Given the description of an element on the screen output the (x, y) to click on. 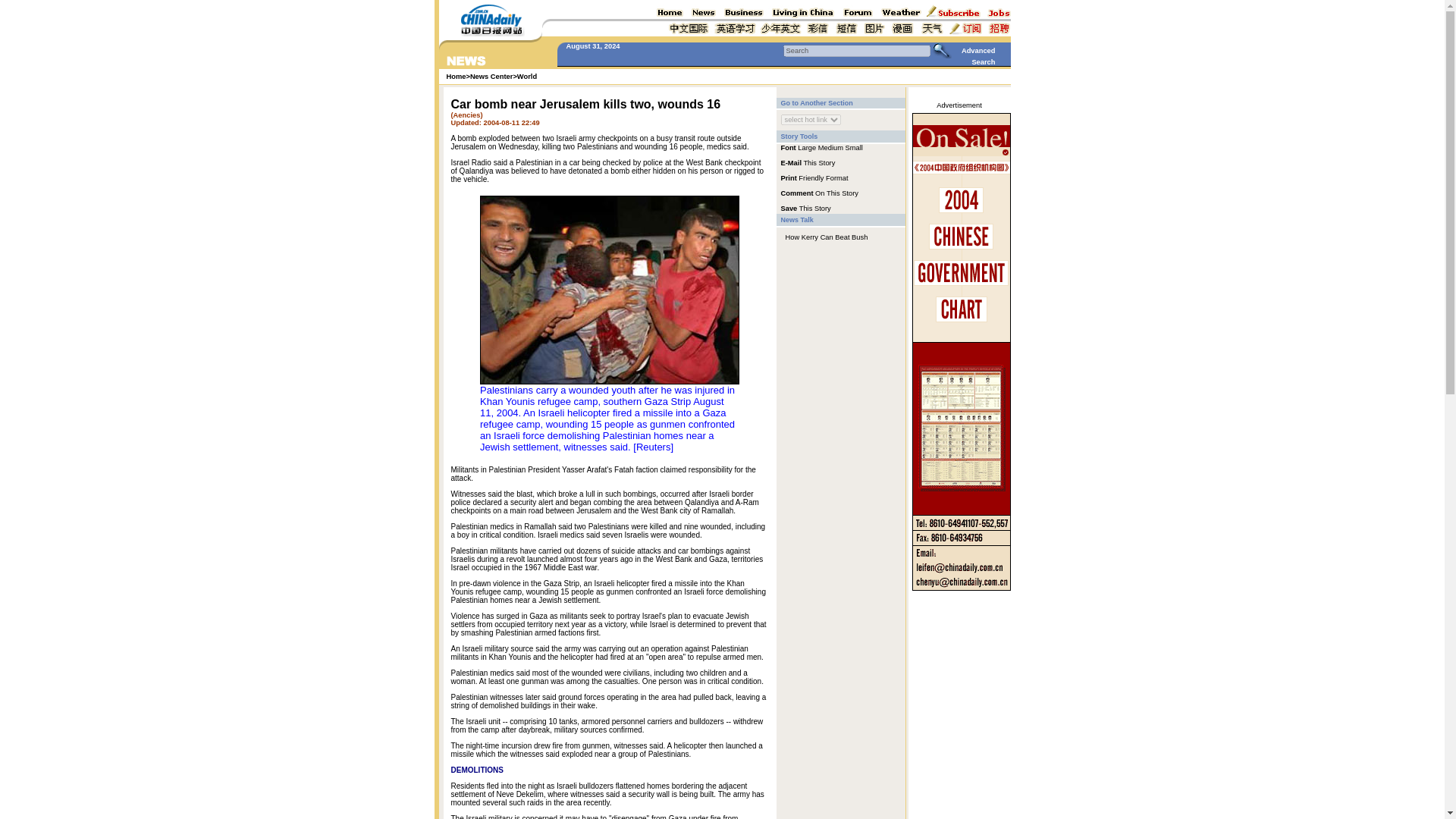
How Kerry Can Beat Bush (826, 236)
Advanced Search (977, 56)
Medium (830, 147)
E-Mail This Story (807, 162)
Large (806, 147)
World (526, 76)
News Center (491, 76)
Small (854, 147)
Comment On This Story (819, 192)
Save This Story (805, 207)
